Given the description of an element on the screen output the (x, y) to click on. 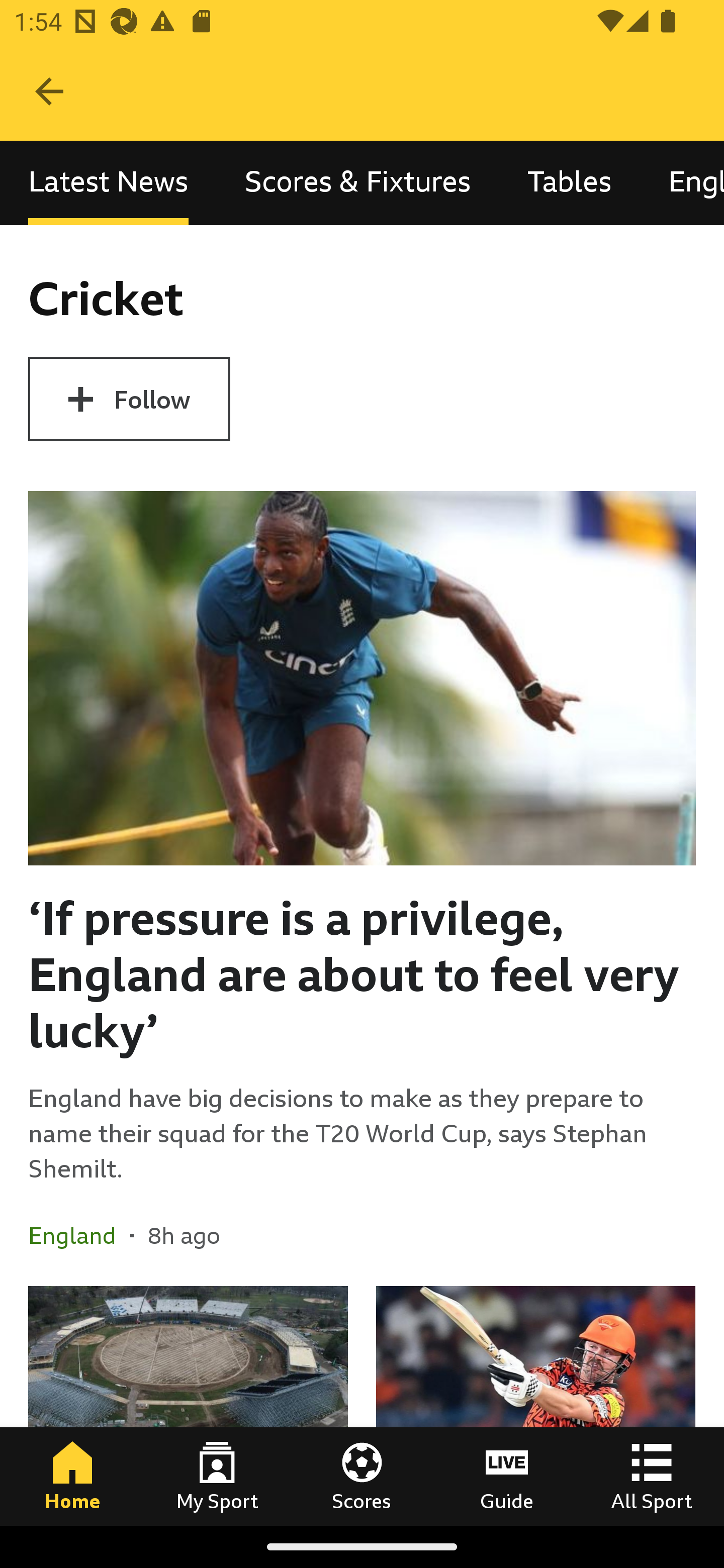
Navigate up (49, 91)
Latest News, selected Latest News (108, 183)
Scores & Fixtures (357, 183)
Tables (569, 183)
Follow Cricket Follow (129, 398)
England In the section England (79, 1234)
The batting blitz turning cricket into baseball (535, 1405)
My Sport (216, 1475)
Scores (361, 1475)
Guide (506, 1475)
All Sport (651, 1475)
